Given the description of an element on the screen output the (x, y) to click on. 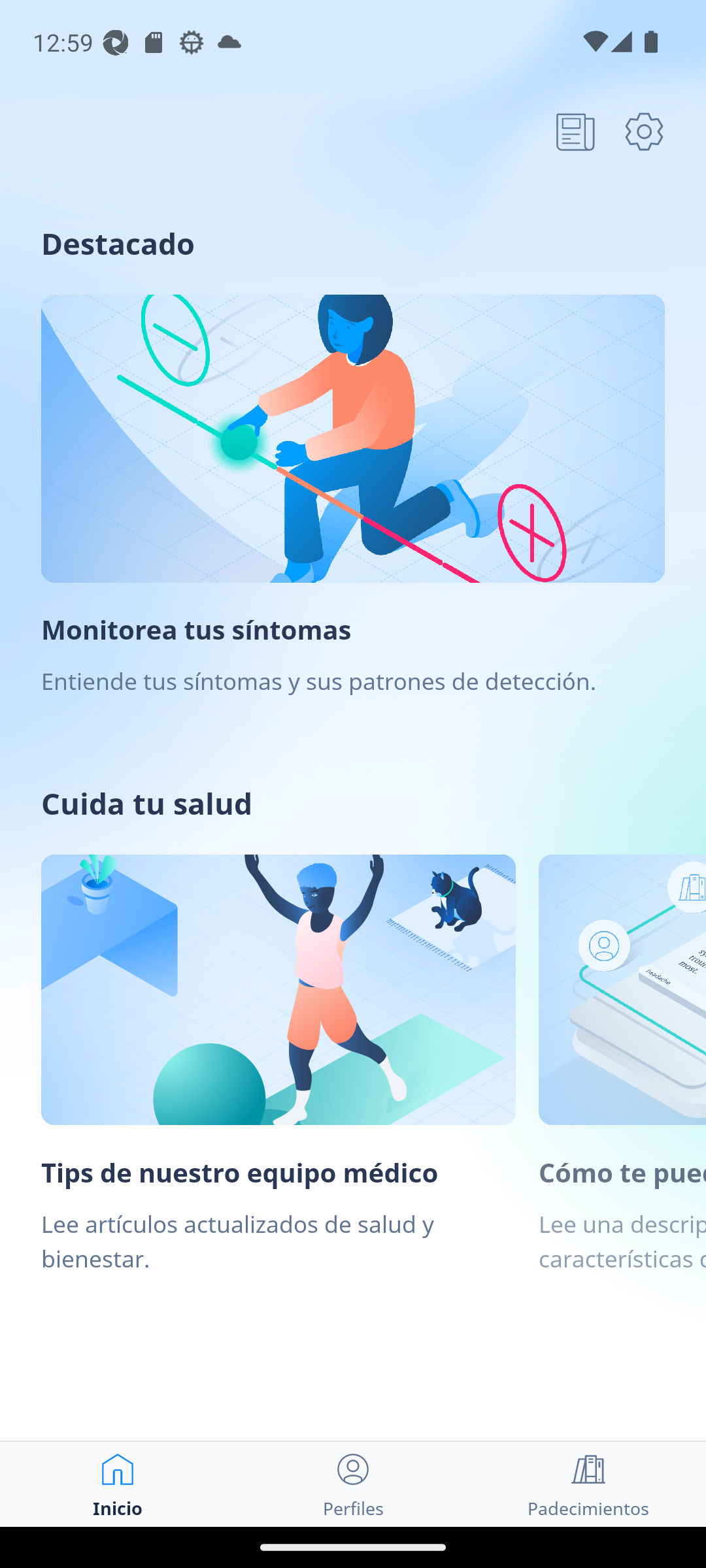
article icon , open articles (574, 131)
settings icon, open settings (644, 131)
Inicio (117, 1484)
Perfiles (352, 1484)
Padecimientos (588, 1484)
